Given the description of an element on the screen output the (x, y) to click on. 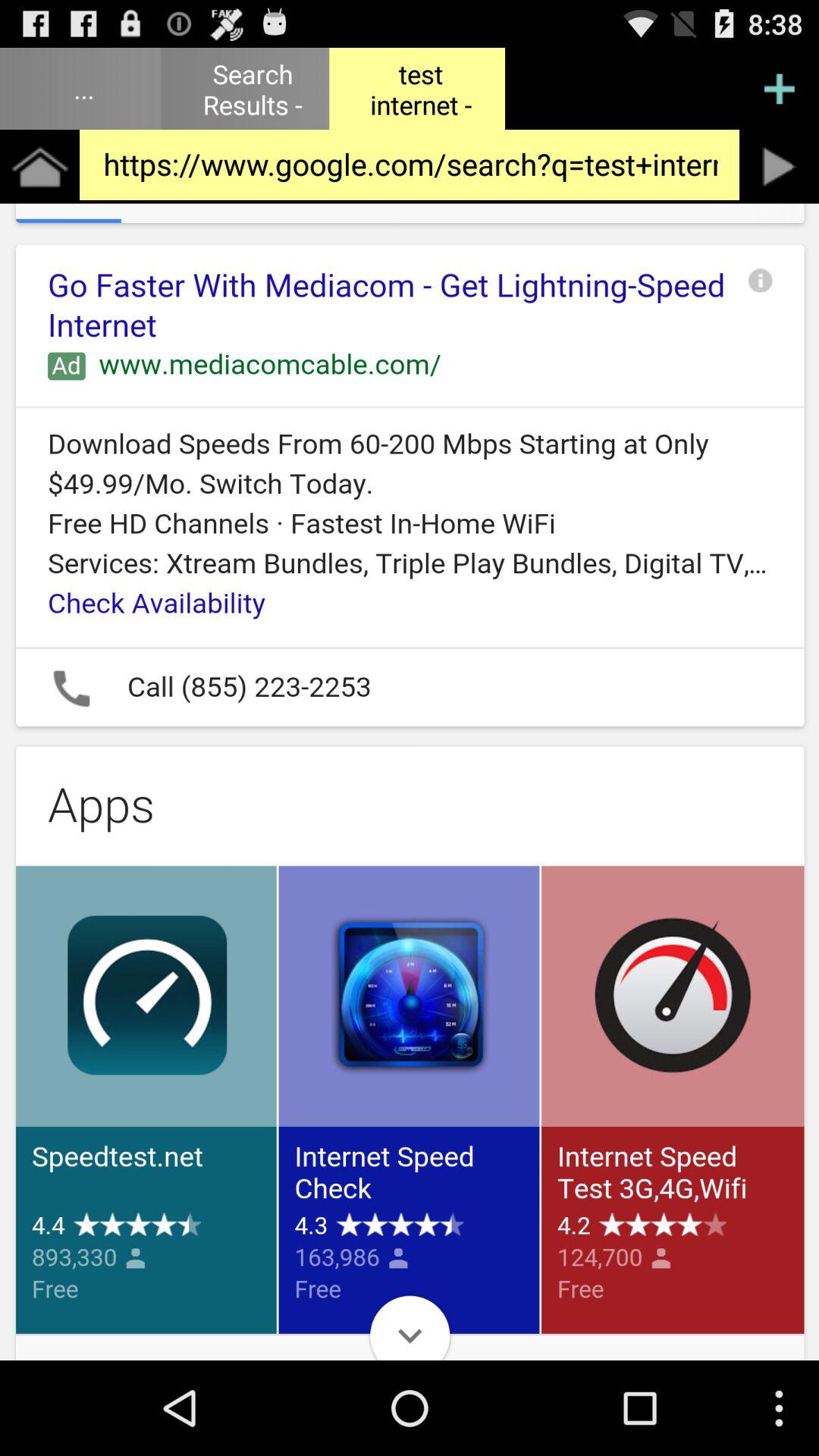
go home (39, 166)
